Given the description of an element on the screen output the (x, y) to click on. 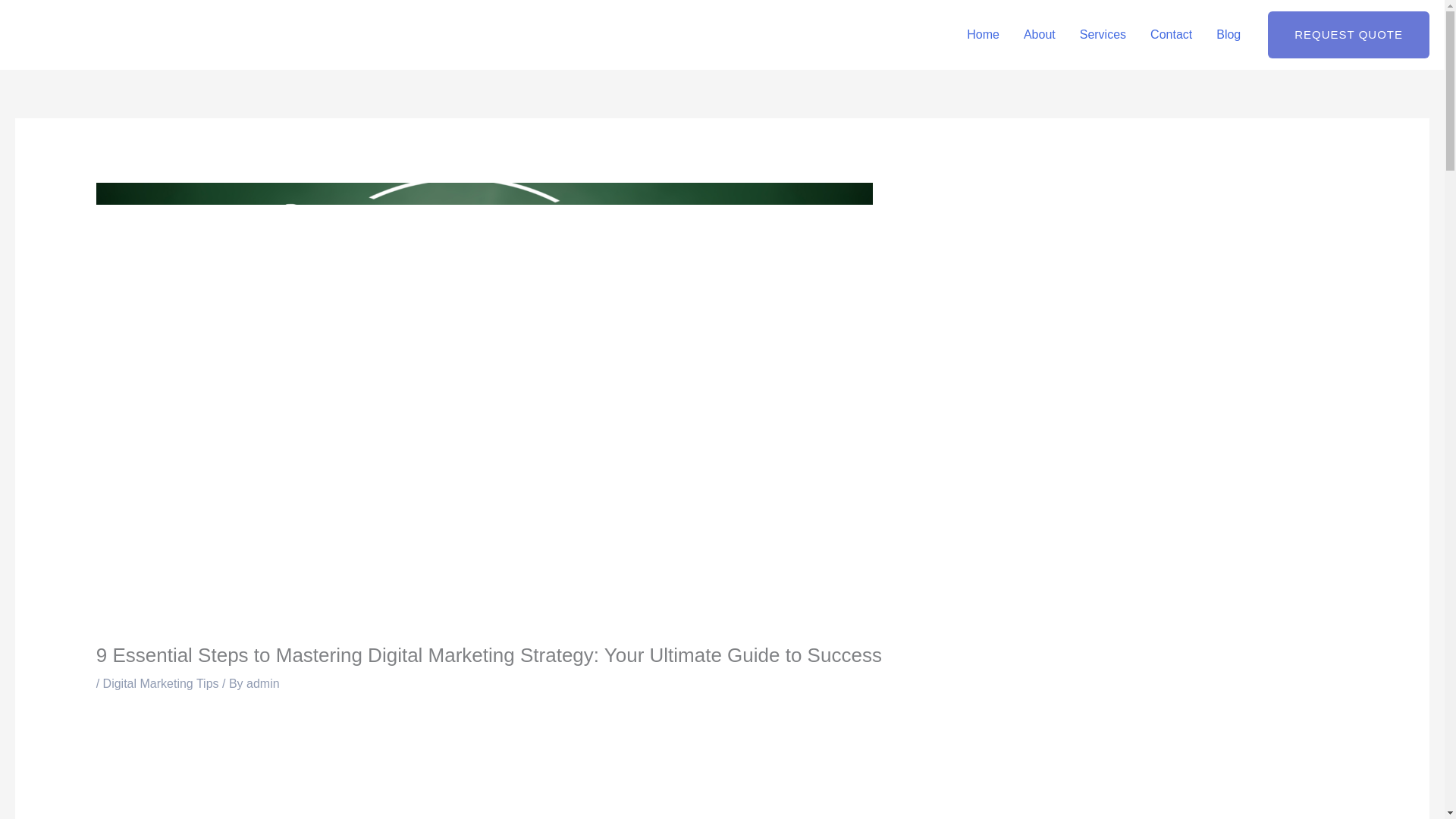
admin (262, 683)
REQUEST QUOTE (1348, 34)
Home (983, 34)
Blog (1228, 34)
Contact (1171, 34)
Services (1102, 34)
About (1039, 34)
View all posts by admin (262, 683)
Digital Marketing Tips (161, 683)
